Given the description of an element on the screen output the (x, y) to click on. 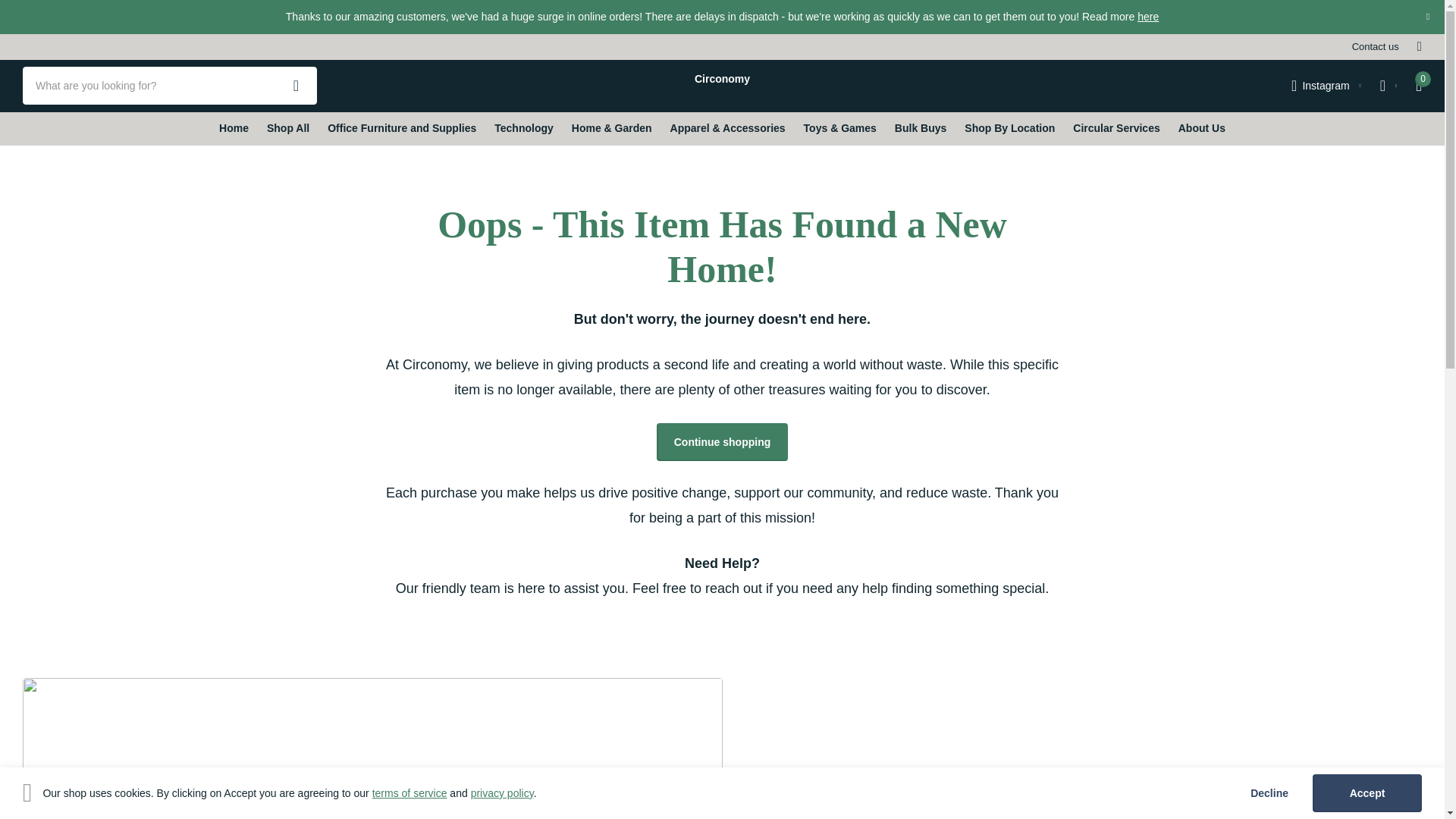
Zoeken (296, 85)
Contact us (1375, 46)
Home (233, 128)
here (1147, 16)
Shipping Policy (1147, 16)
Instagram (1326, 85)
Shop All (287, 128)
0 (1418, 85)
Close (1427, 17)
